Given the description of an element on the screen output the (x, y) to click on. 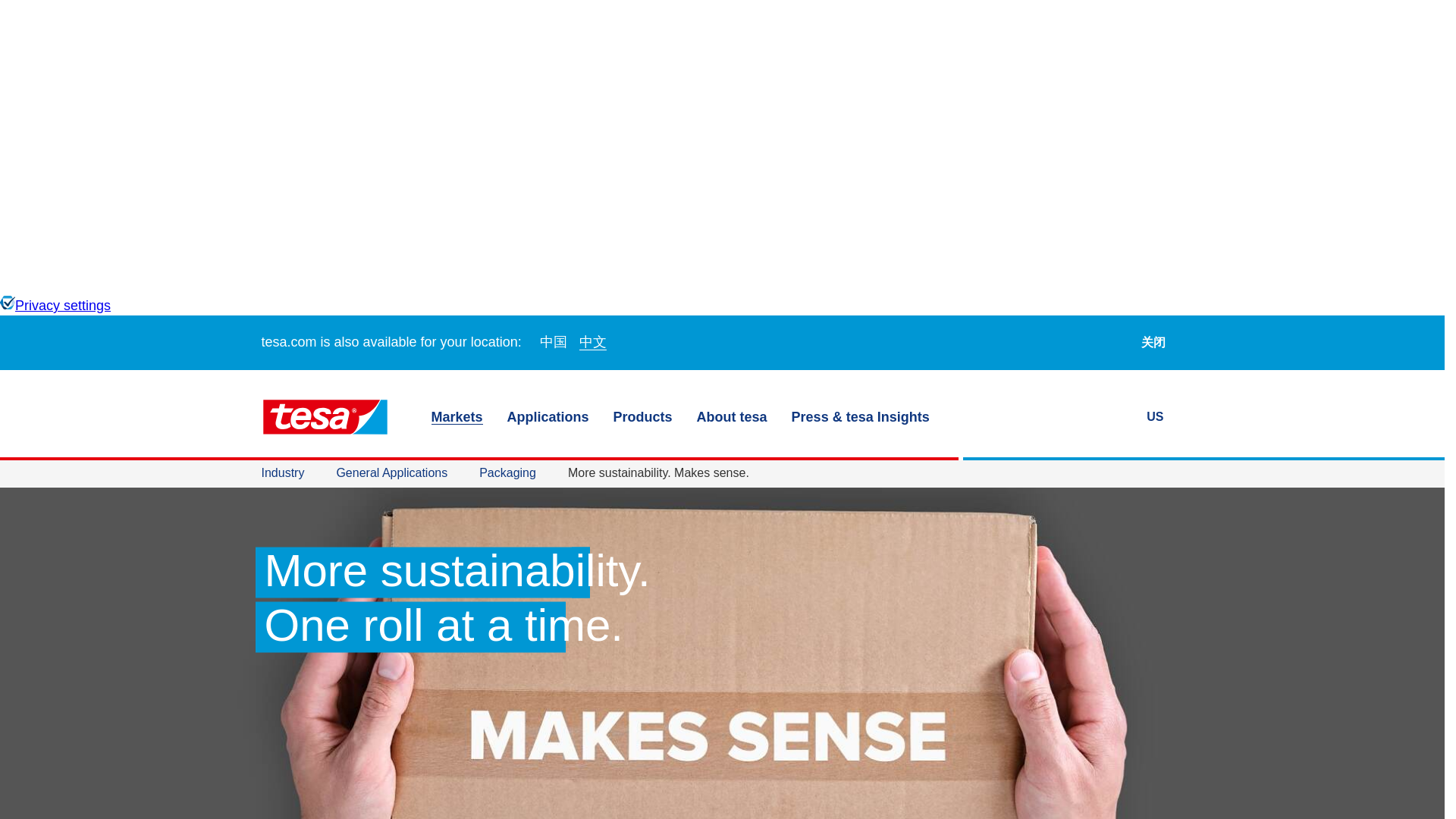
Products (642, 417)
About tesa (732, 417)
US (1164, 417)
Markets (455, 417)
Applications (547, 417)
Search (1115, 416)
Switch to other country or language (1164, 417)
